Given the description of an element on the screen output the (x, y) to click on. 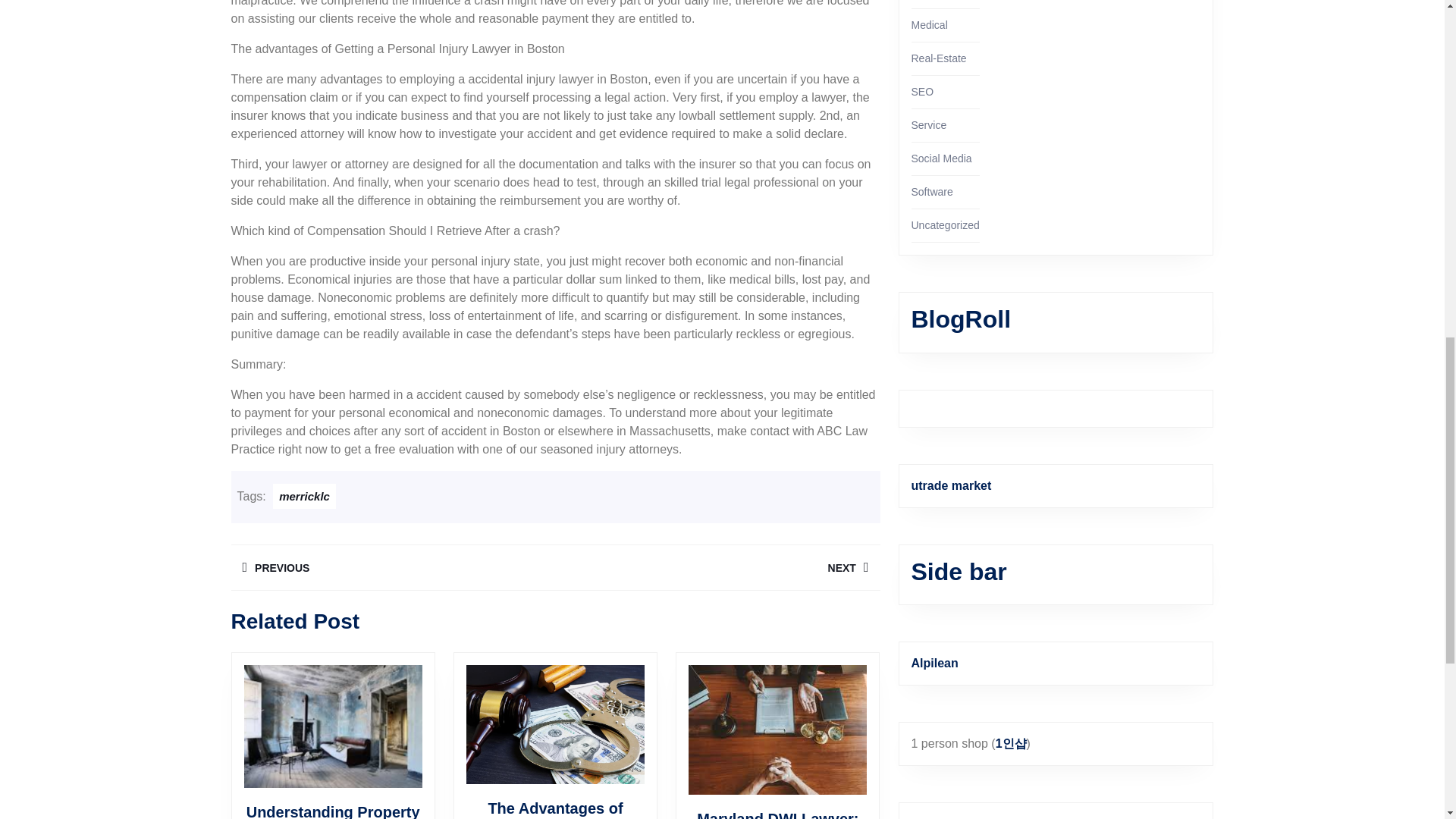
merricklc (304, 496)
